Given the description of an element on the screen output the (x, y) to click on. 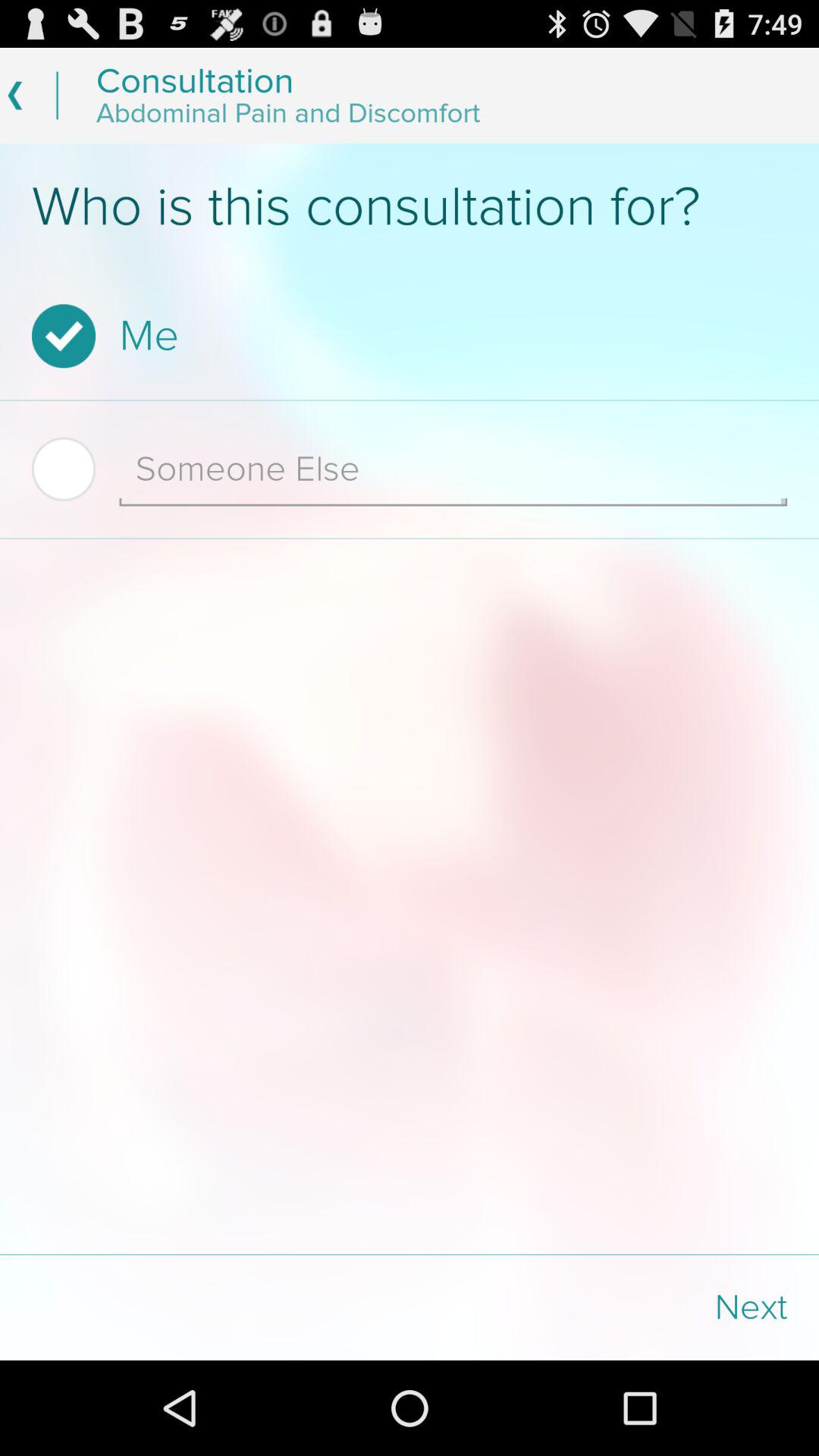
choose who is this app (409, 207)
